Given the description of an element on the screen output the (x, y) to click on. 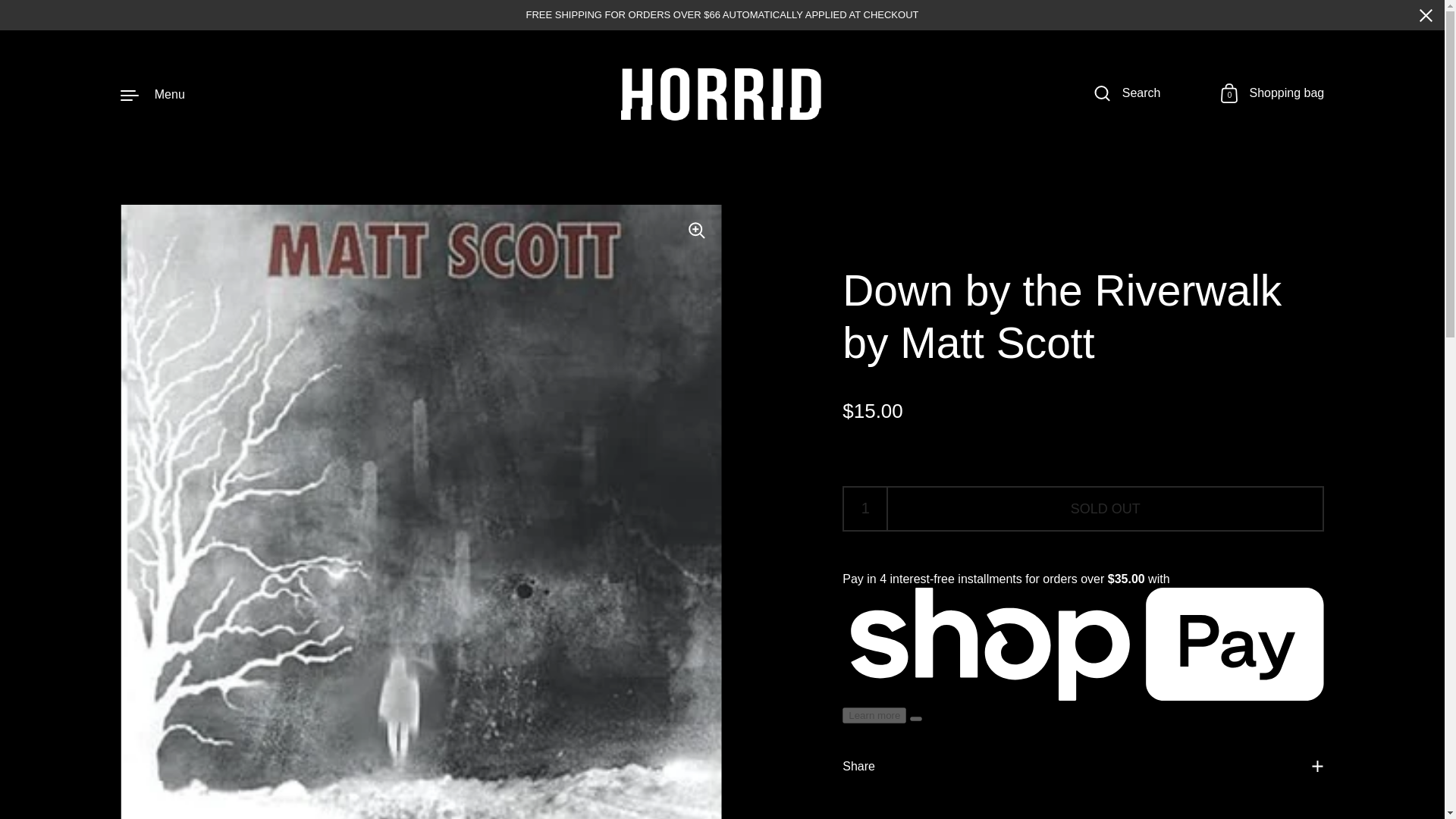
1 (865, 508)
Horrid Magazine (721, 94)
Search (1127, 94)
Menu (1272, 93)
